Given the description of an element on the screen output the (x, y) to click on. 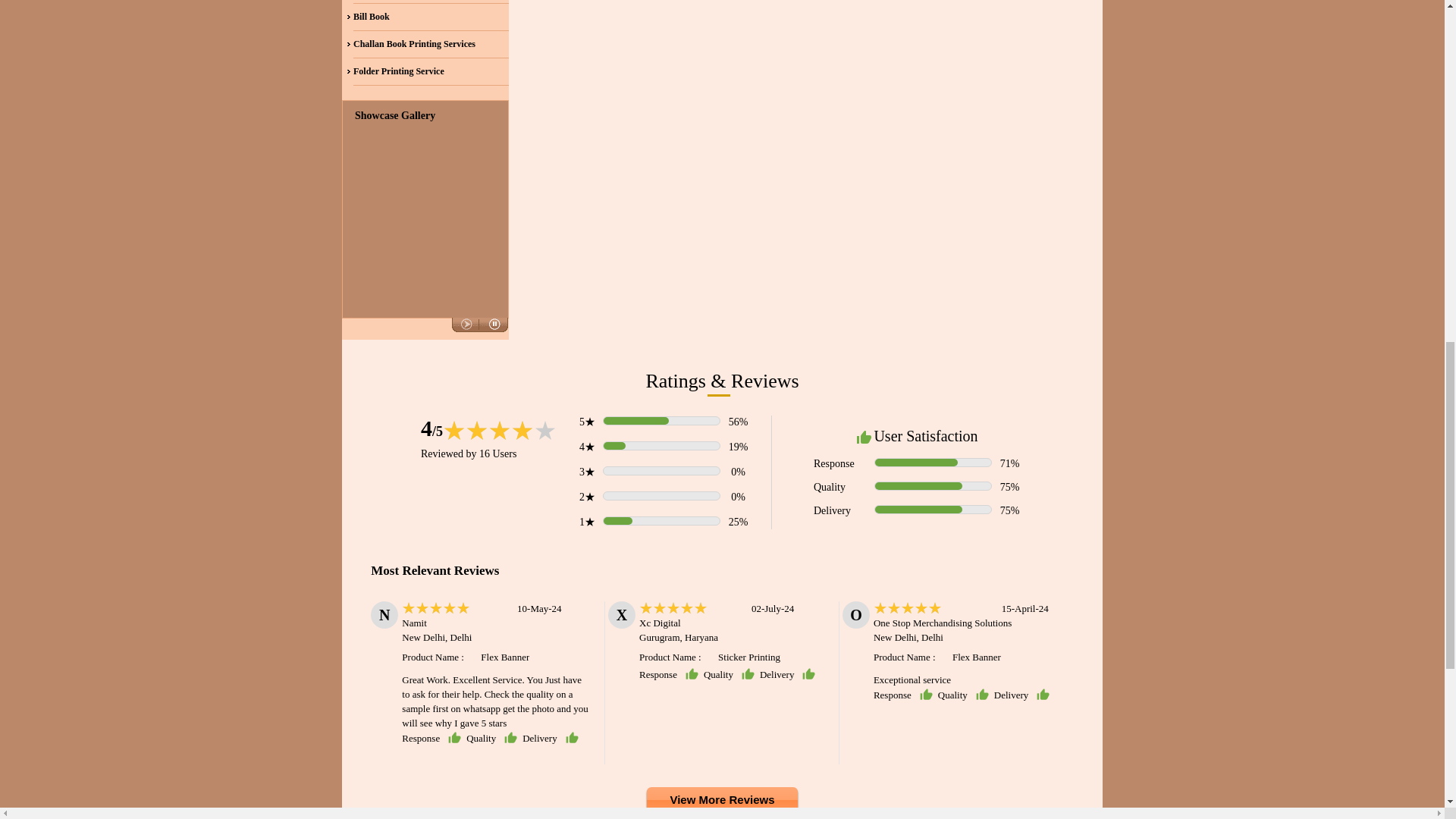
4 out of 5 Votes (431, 427)
